Given the description of an element on the screen output the (x, y) to click on. 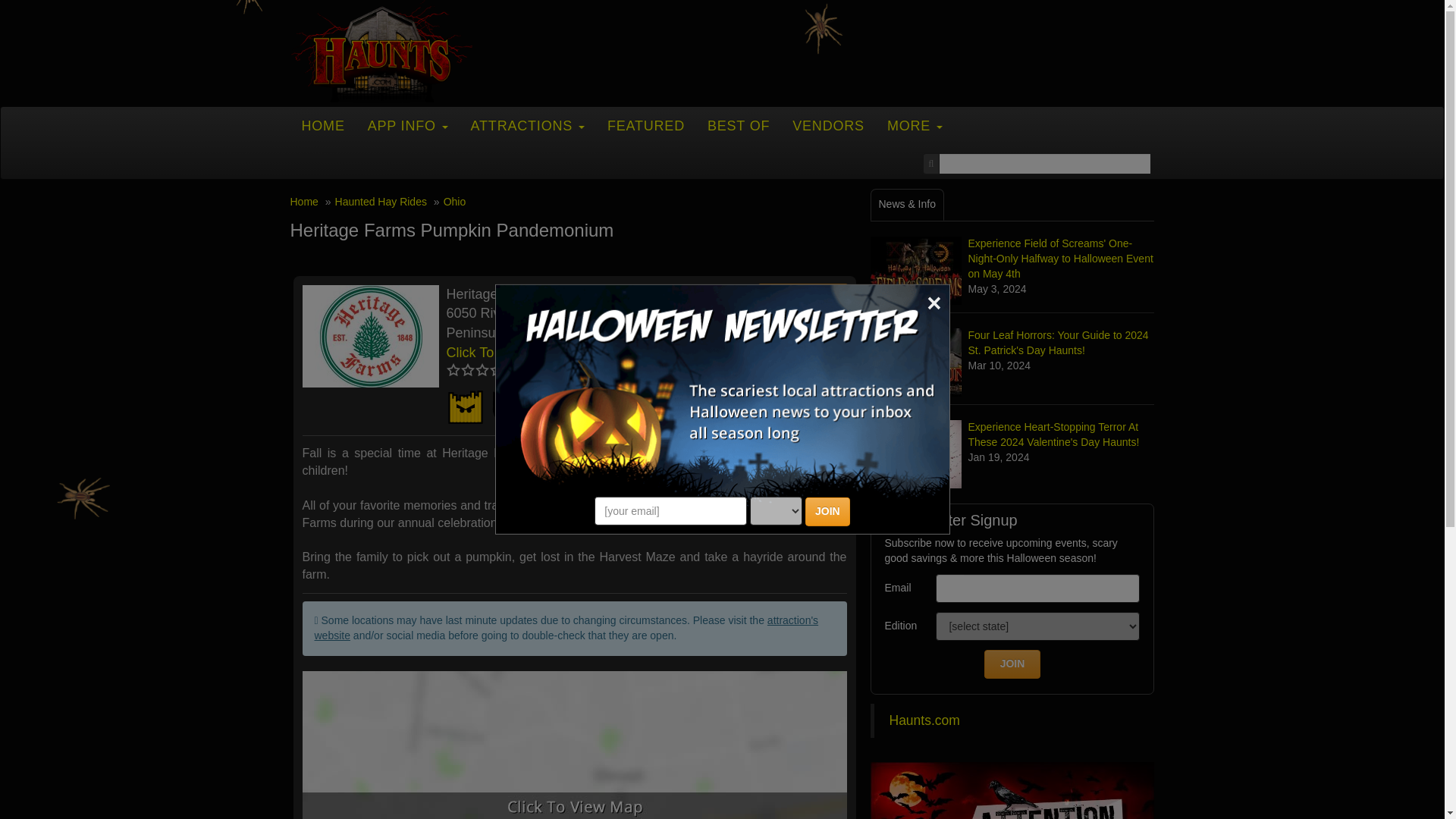
FEATURED (645, 125)
BEST OF (737, 125)
APP INFO (408, 125)
JOIN (827, 511)
Haunted Hay Rides (464, 406)
HOME (322, 125)
ATTRACTIONS (527, 125)
VENDORS (828, 125)
MORE (914, 125)
